Given the description of an element on the screen output the (x, y) to click on. 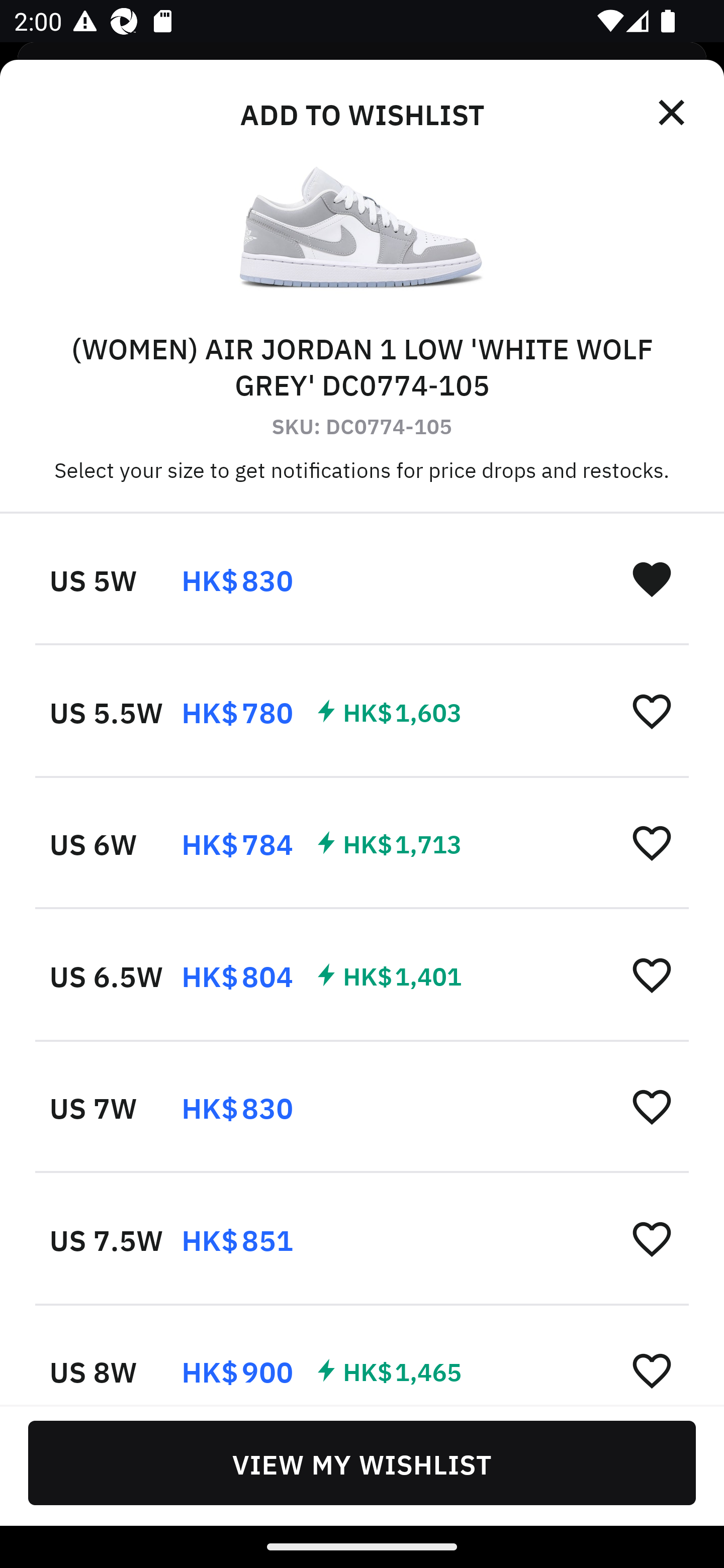
 (672, 112)
󰋑 (651, 578)
󰋕 (651, 710)
󰋕 (651, 842)
󰋕 (651, 974)
󰋕 (651, 1105)
󰋕 (651, 1237)
󰋕 (651, 1369)
VIEW MY WISHLIST (361, 1462)
